Given the description of an element on the screen output the (x, y) to click on. 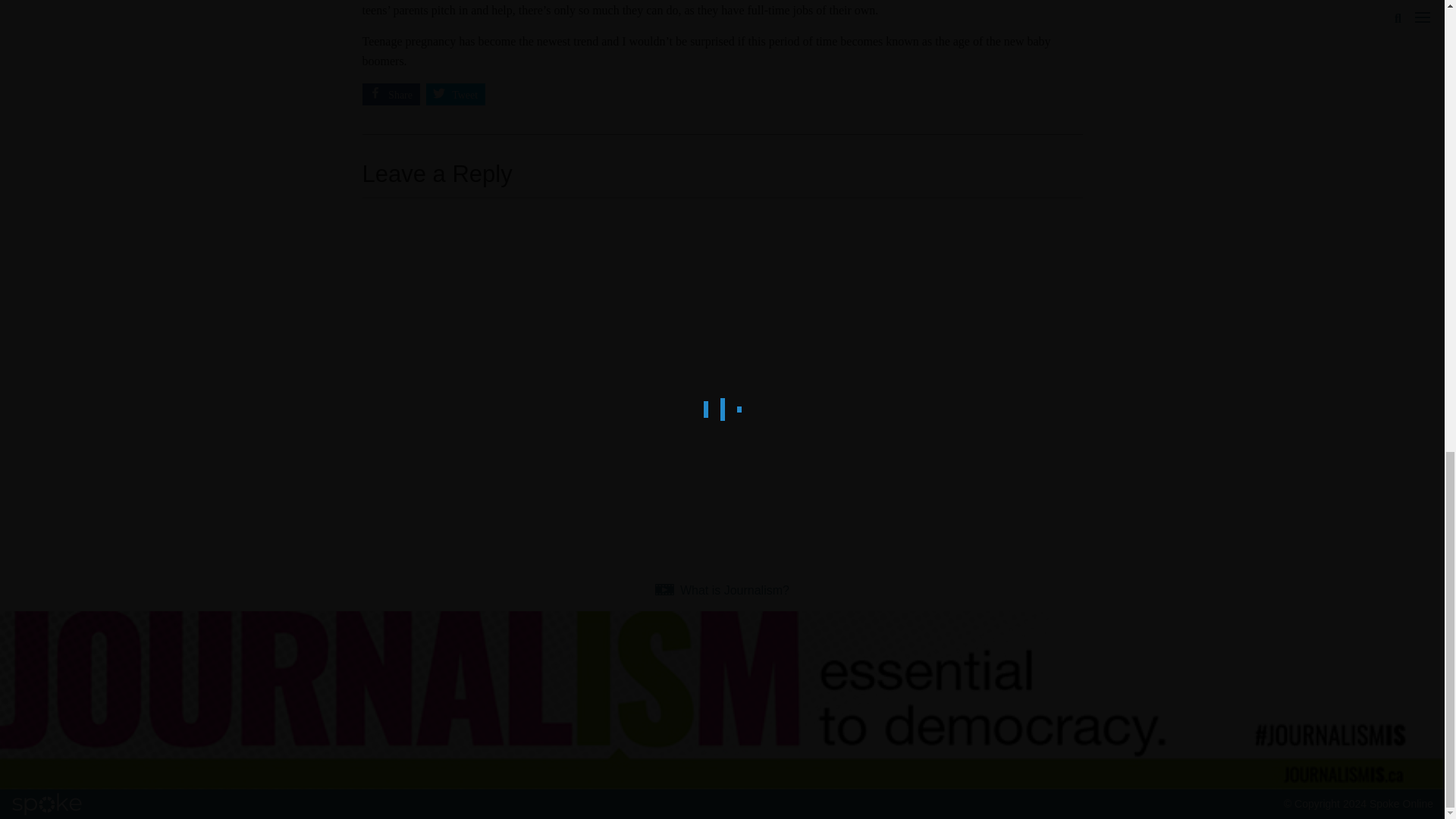
Share (392, 97)
Share on Facebook (392, 97)
Tweet (456, 97)
What is Journalism? (722, 590)
Tweet (456, 97)
